Given the description of an element on the screen output the (x, y) to click on. 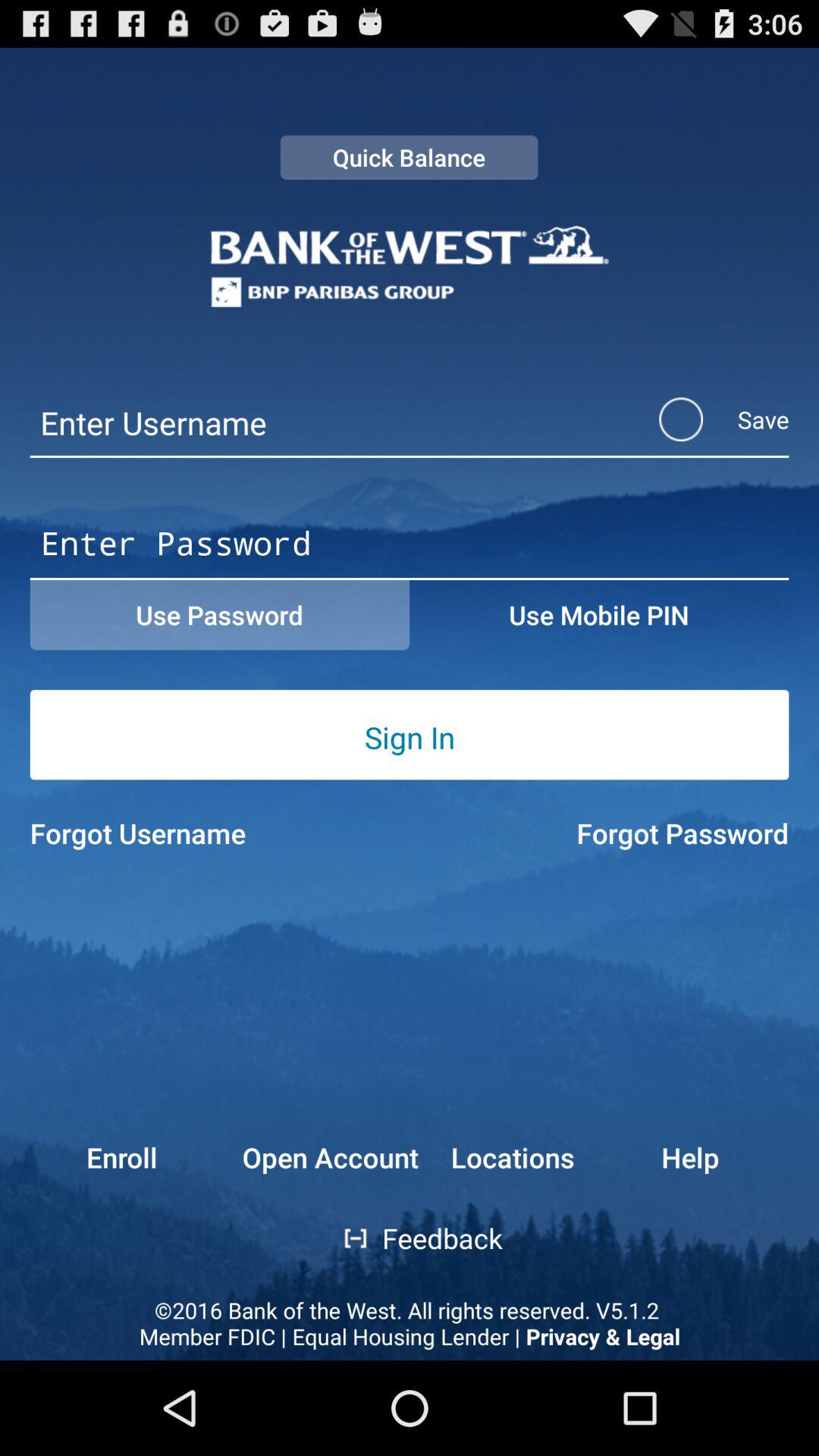
press button to the left of the help button (512, 1157)
